Given the description of an element on the screen output the (x, y) to click on. 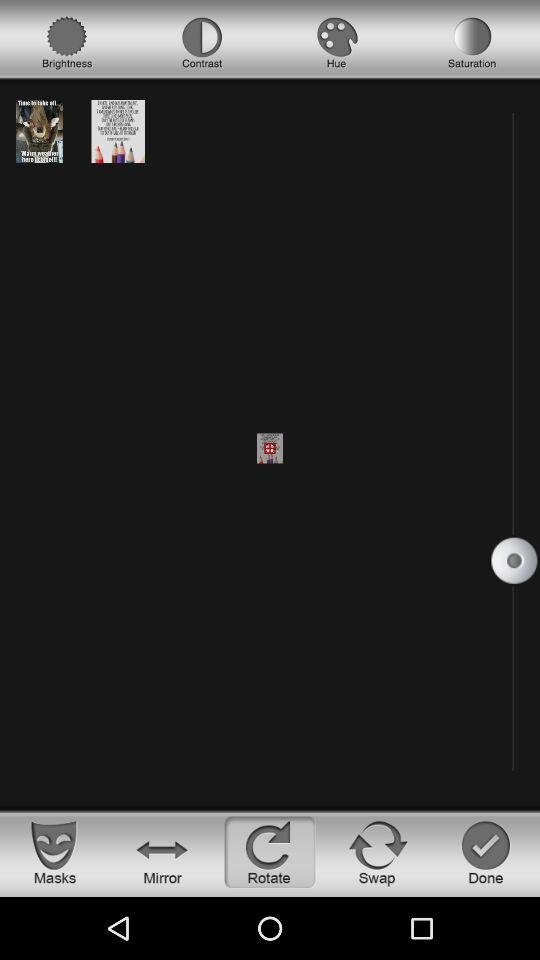
finish editing (485, 852)
